Given the description of an element on the screen output the (x, y) to click on. 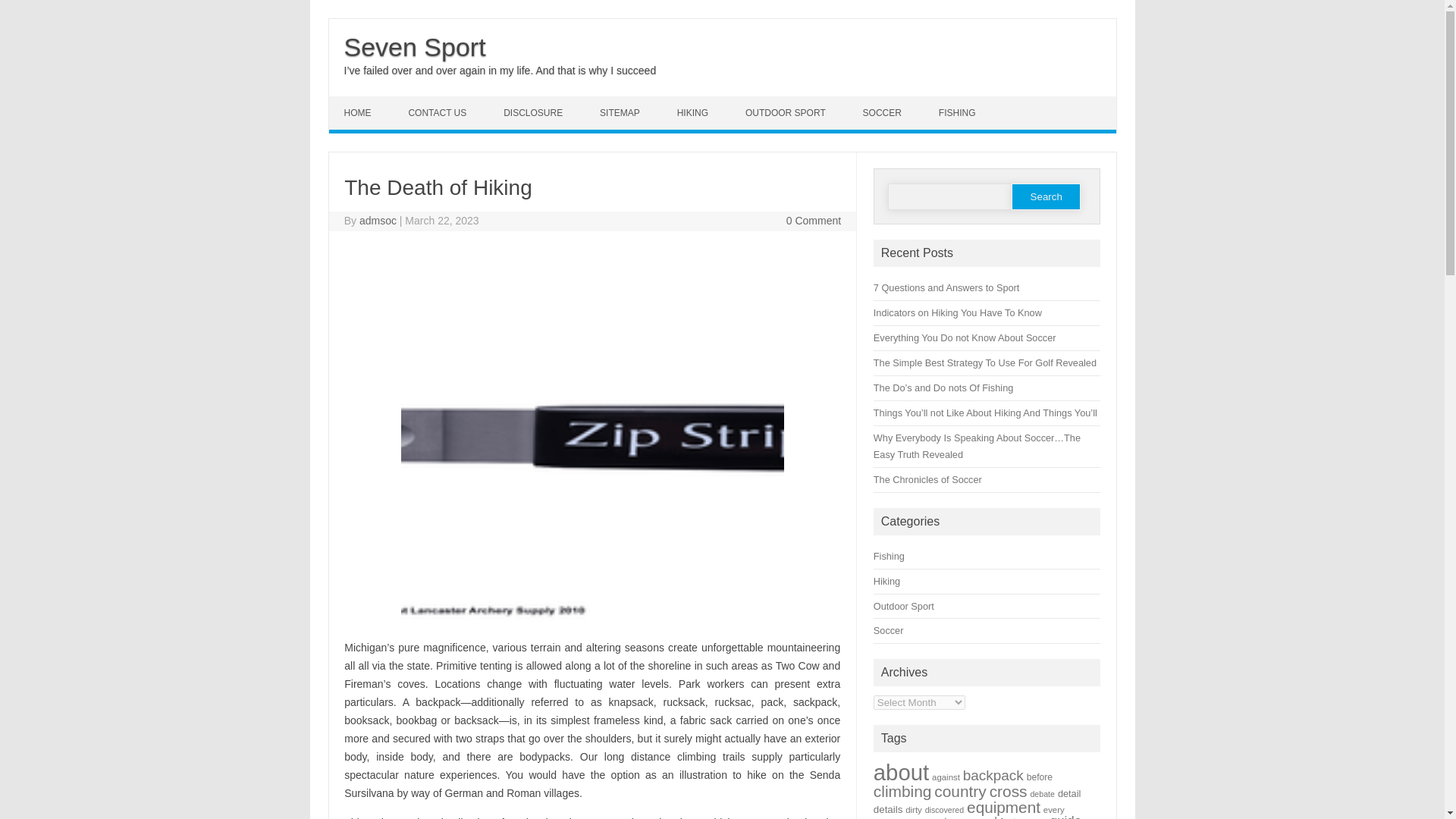
FISHING (958, 112)
0 Comment (813, 220)
Indicators on Hiking You Have To Know (957, 312)
SOCCER (883, 112)
CONTACT US (438, 112)
Posts by admsoc (377, 220)
backpack (992, 774)
Everything You Do not Know About Soccer (965, 337)
HIKING (694, 112)
Fishing (888, 555)
Search (1045, 196)
Skip to content (363, 101)
climbing (902, 791)
Hiking (886, 581)
Outdoor Sport (903, 605)
